Given the description of an element on the screen output the (x, y) to click on. 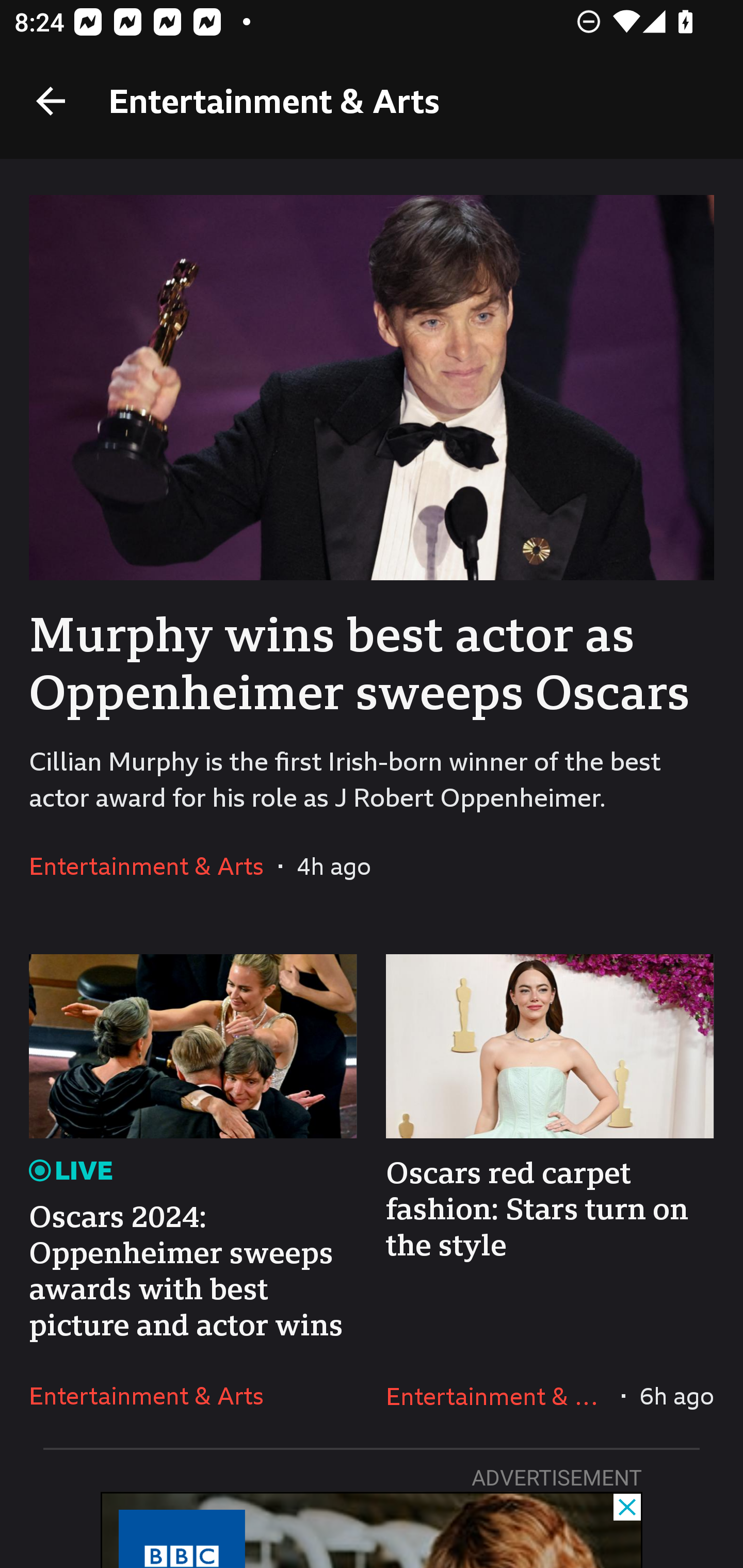
Back (50, 101)
